Given the description of an element on the screen output the (x, y) to click on. 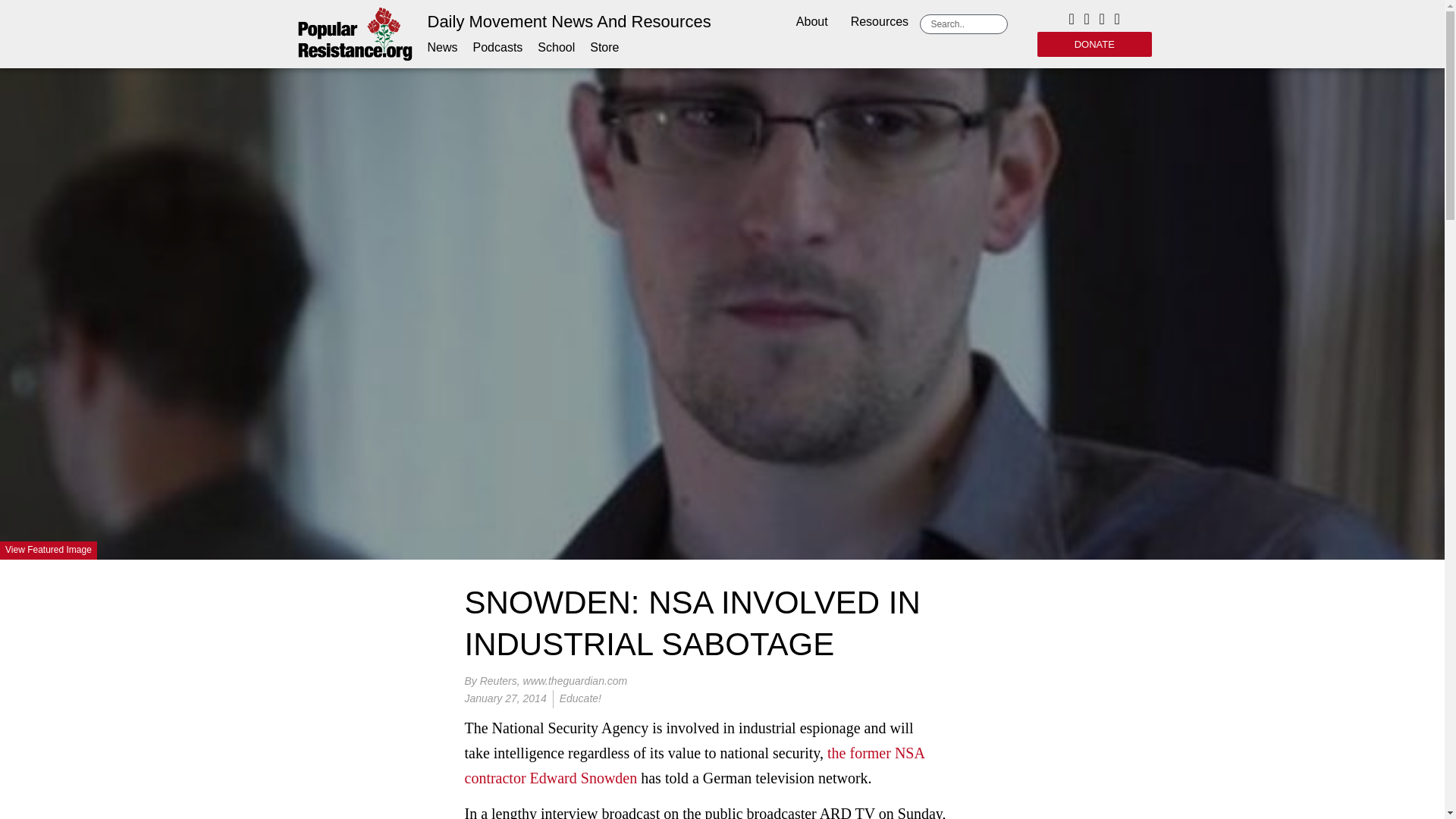
Resources (880, 22)
Podcasts (497, 47)
News (443, 47)
Store (603, 47)
About (812, 22)
School (556, 47)
Search (966, 24)
